Given the description of an element on the screen output the (x, y) to click on. 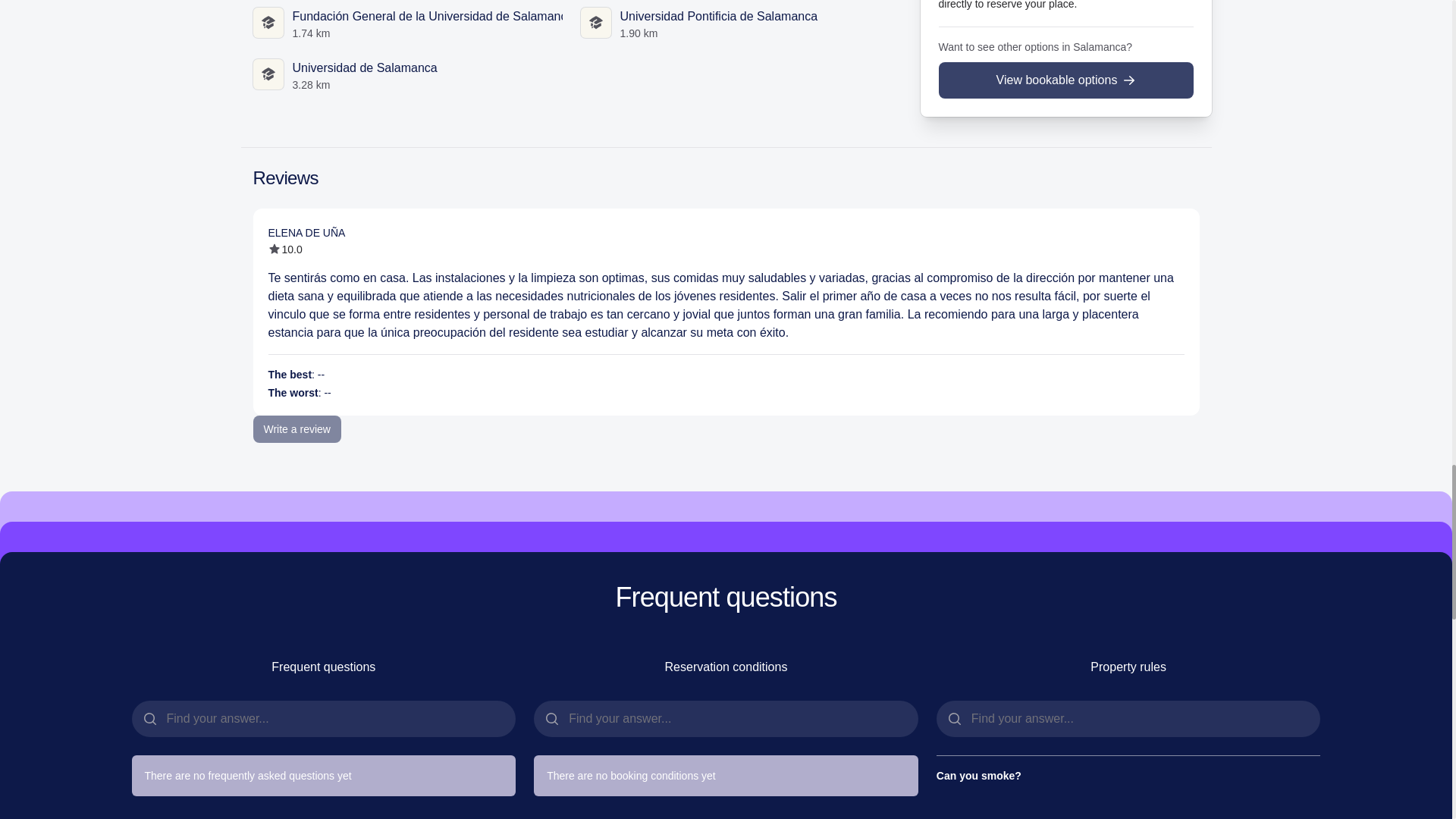
Universidad de Salamanca (365, 67)
Write a review (296, 429)
Universidad Pontificia de Salamanca (719, 15)
Can you smoke? (1128, 775)
